Given the description of an element on the screen output the (x, y) to click on. 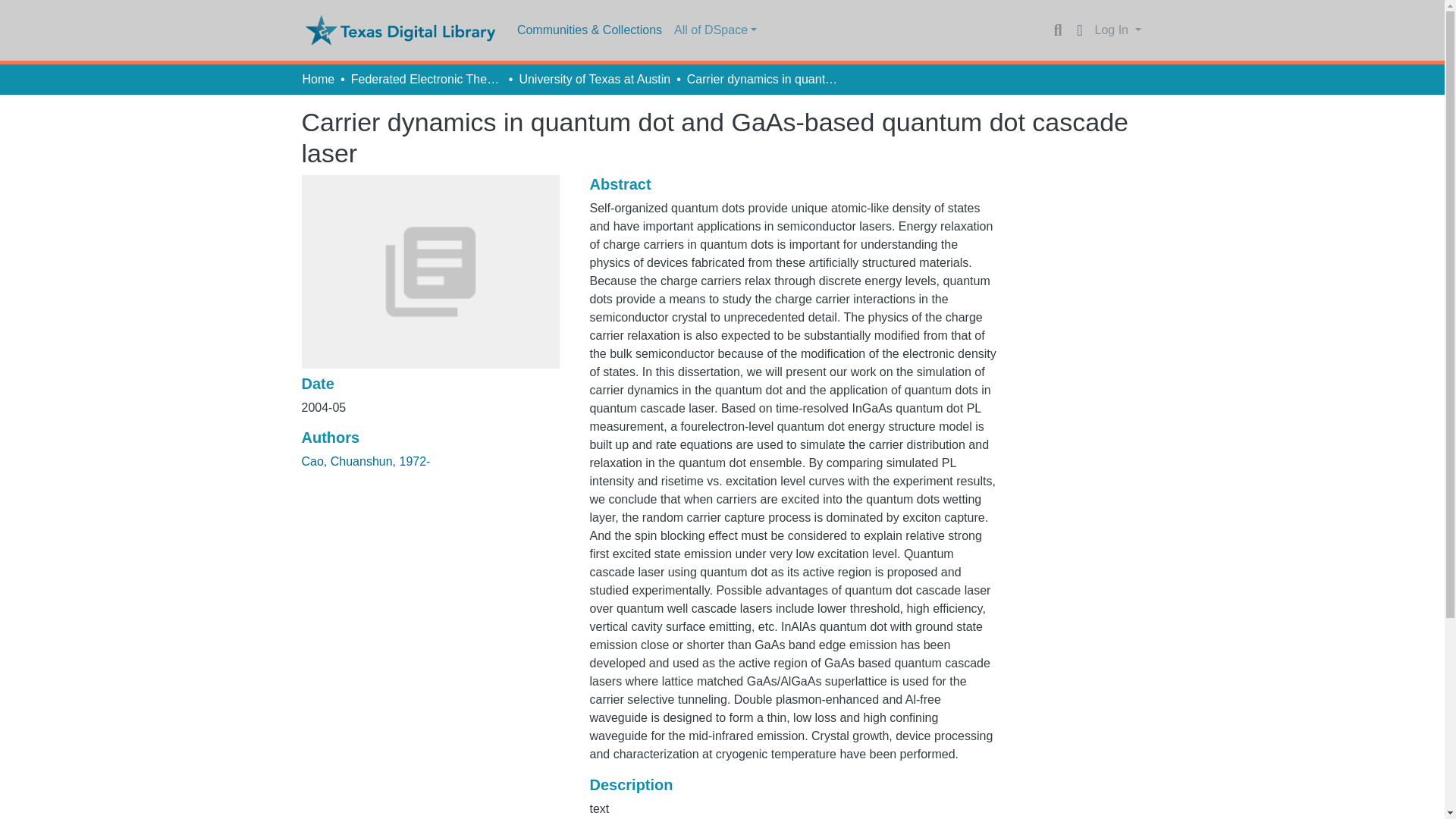
All of DSpace (715, 30)
Cao, Chuanshun, 1972- (365, 461)
Language switch (1079, 30)
Log In (1117, 30)
University of Texas at Austin (593, 79)
Federated Electronic Theses and Dissertations (426, 79)
Home (317, 79)
Search (1057, 30)
